Given the description of an element on the screen output the (x, y) to click on. 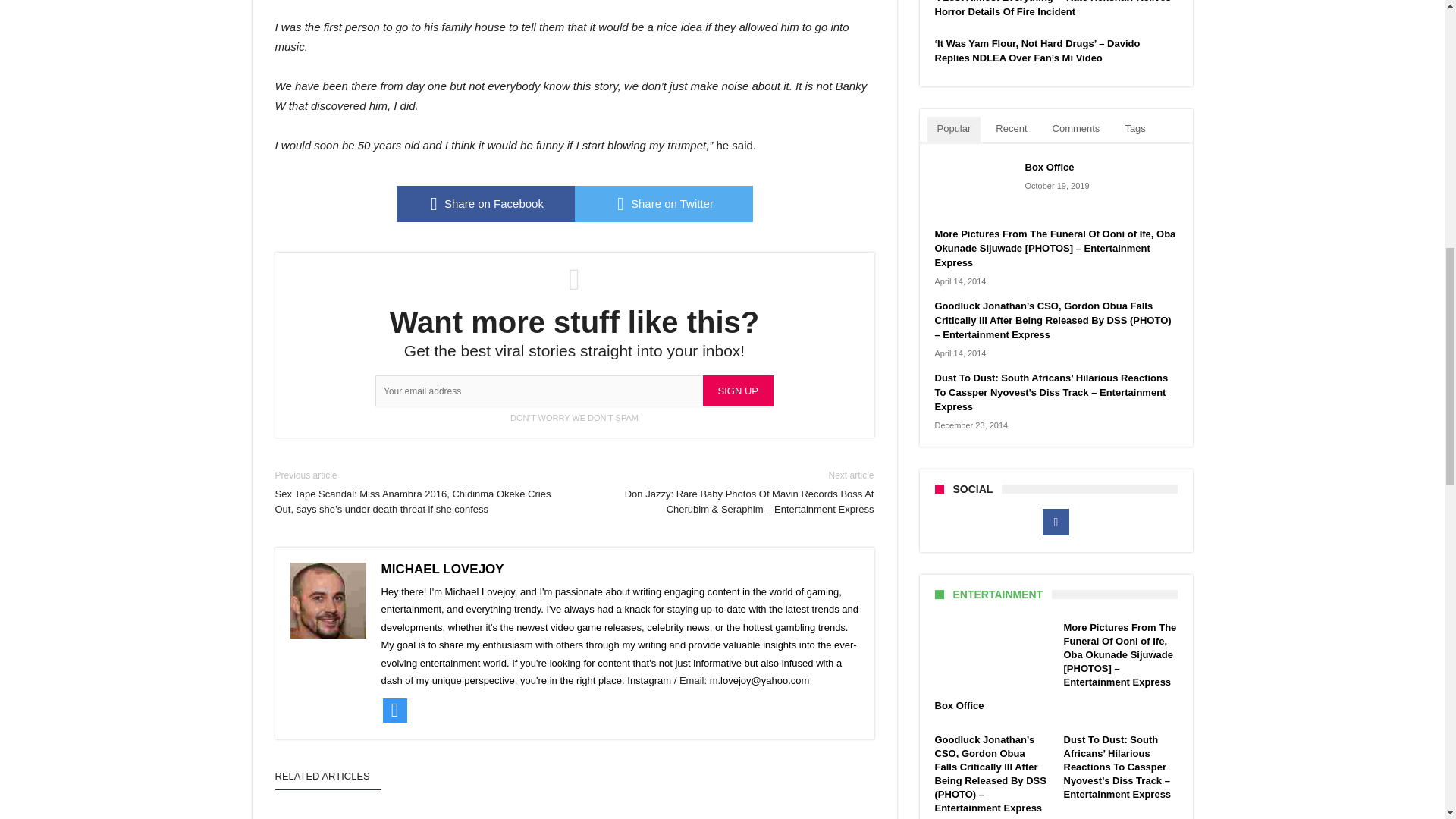
facebook (484, 203)
twitter (663, 203)
MICHAEL LOVEJOY (441, 568)
Sign up (738, 390)
Sign up (738, 390)
Share on Facebook (484, 203)
Go Top (1417, 60)
Facebook (1055, 522)
Share on Twitter (663, 203)
